Given the description of an element on the screen output the (x, y) to click on. 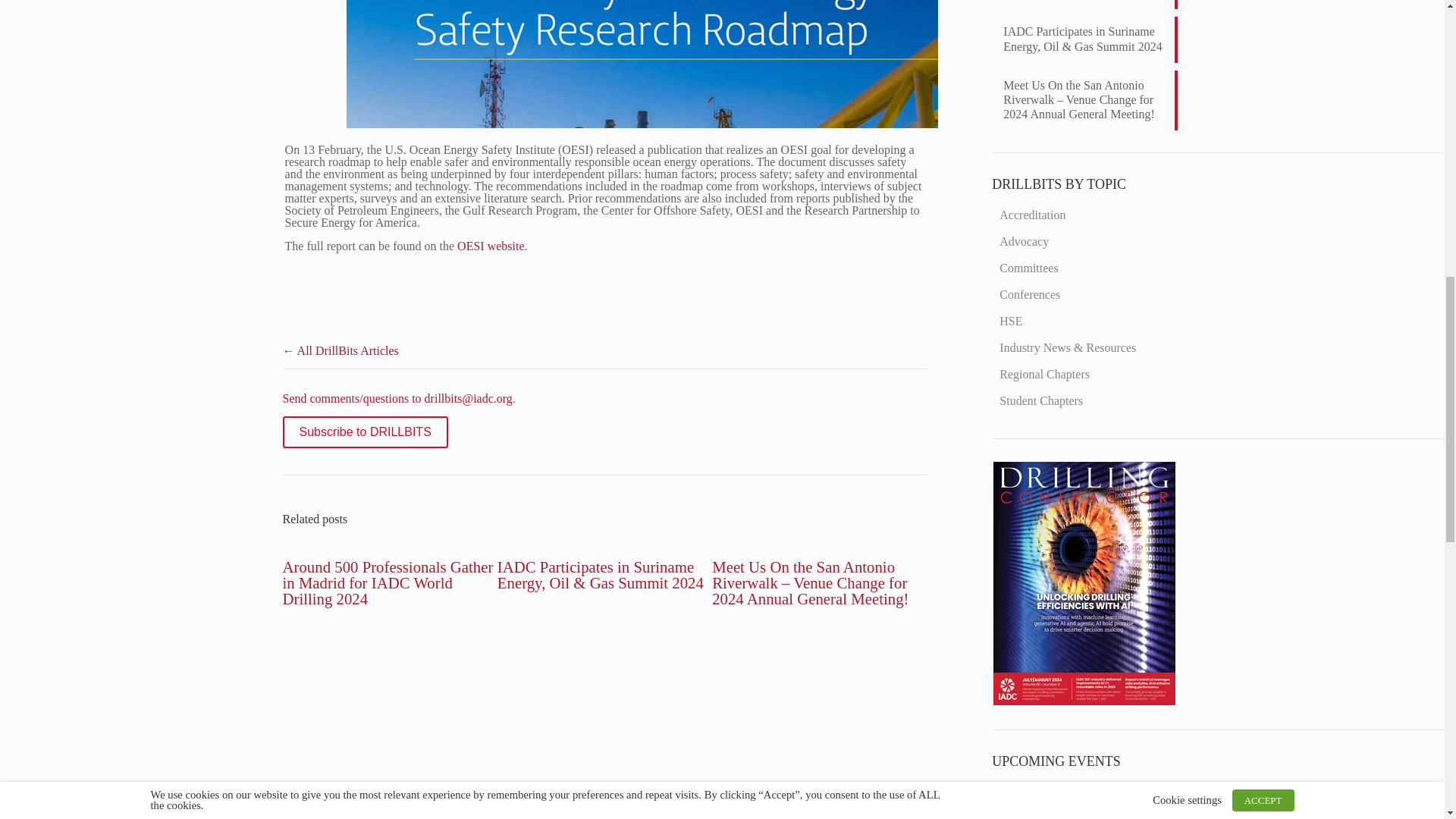
Recent Drilling News (1083, 700)
